Given the description of an element on the screen output the (x, y) to click on. 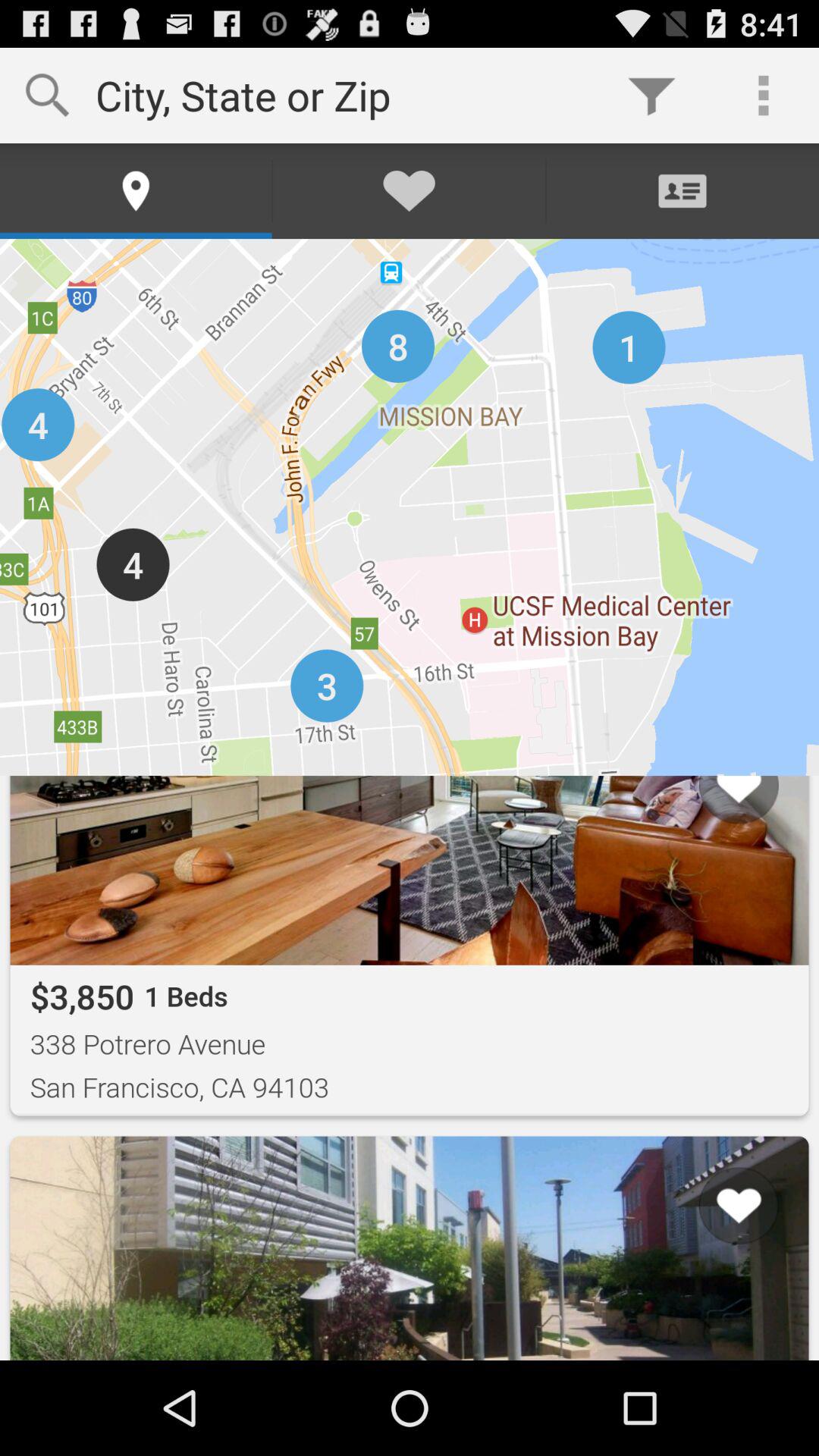
choose the app to the right of city state or icon (651, 95)
